Given the description of an element on the screen output the (x, y) to click on. 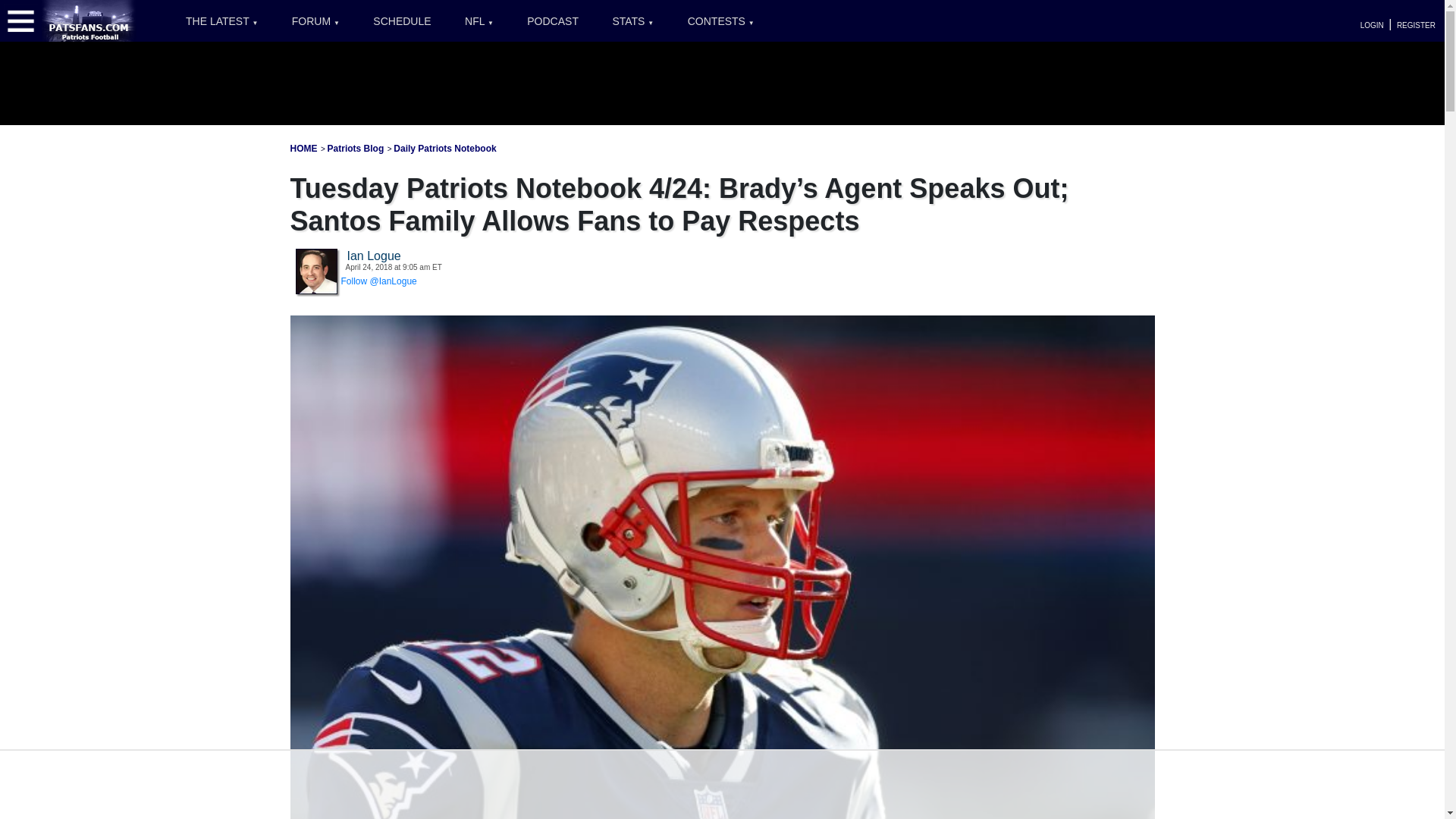
New England Patriots at PatsFans.com (303, 148)
PatsFans.com (89, 19)
Daily Patriots Notebook (444, 148)
PODCAST (553, 21)
SCHEDULE (401, 21)
Patriots Blog (355, 148)
Ian Logue on PatsFans.com (316, 271)
